Given the description of an element on the screen output the (x, y) to click on. 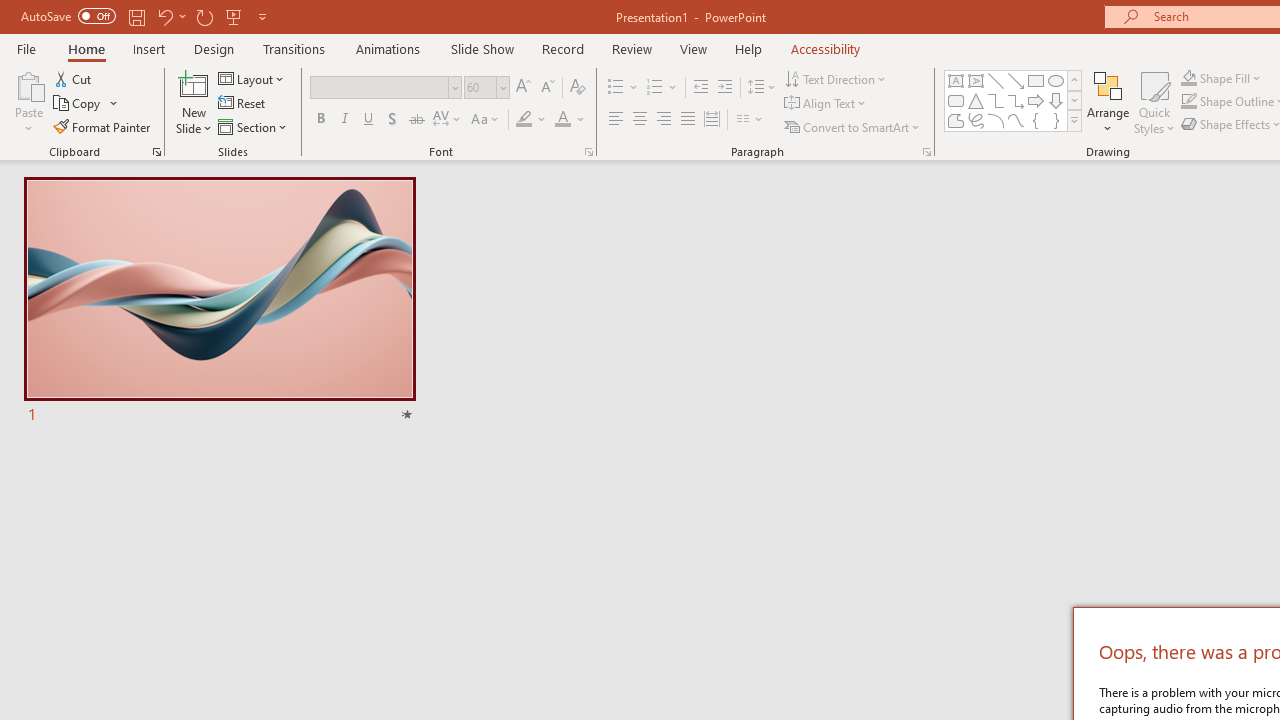
Shape Outline Blue, Accent 1 (1188, 101)
